Given the description of an element on the screen output the (x, y) to click on. 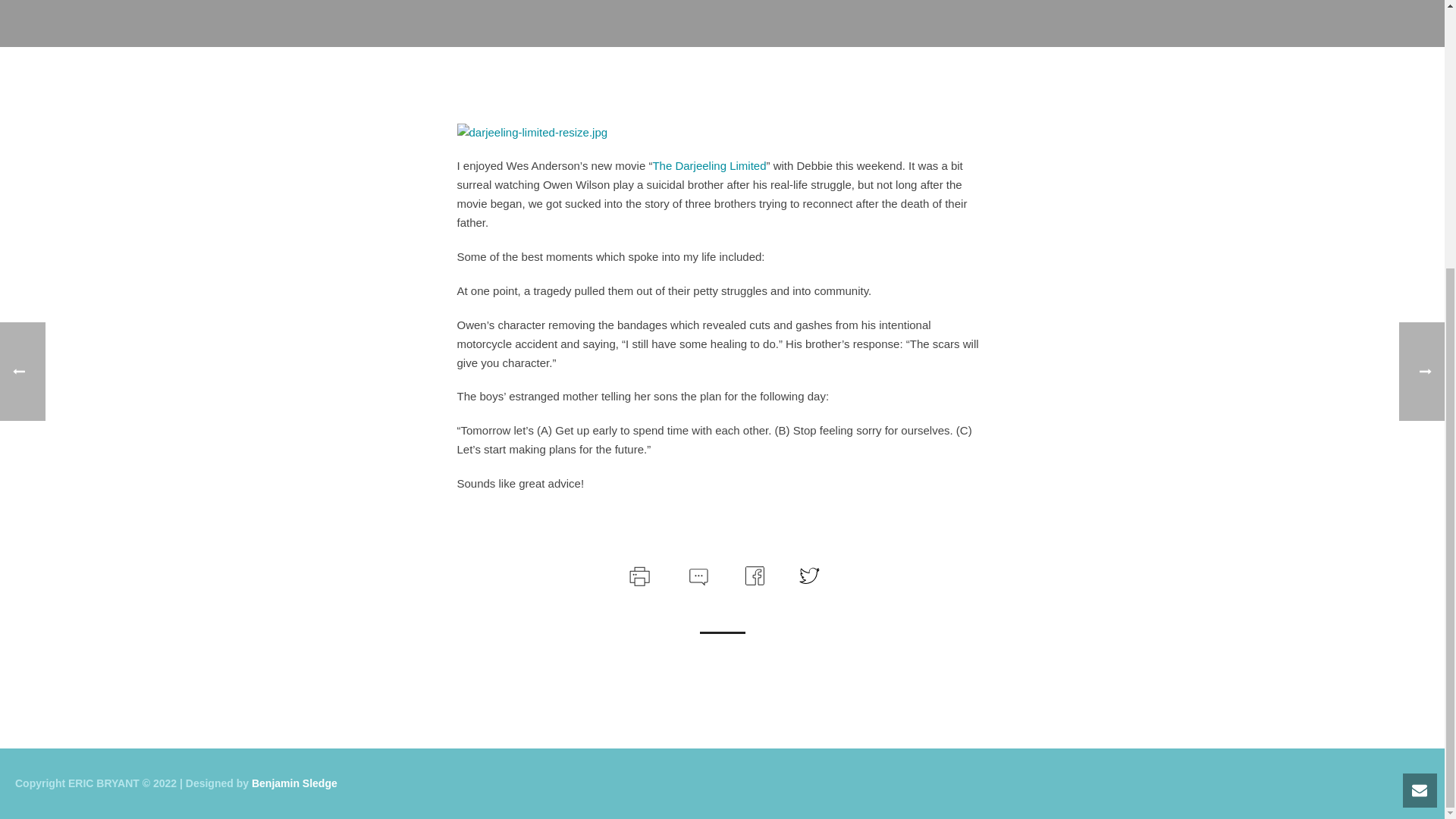
Benjamin Sledge (294, 783)
Print (638, 573)
darjeeling-limited-resize.jpg (532, 131)
The Darjeeling Limited (708, 164)
